Given the description of an element on the screen output the (x, y) to click on. 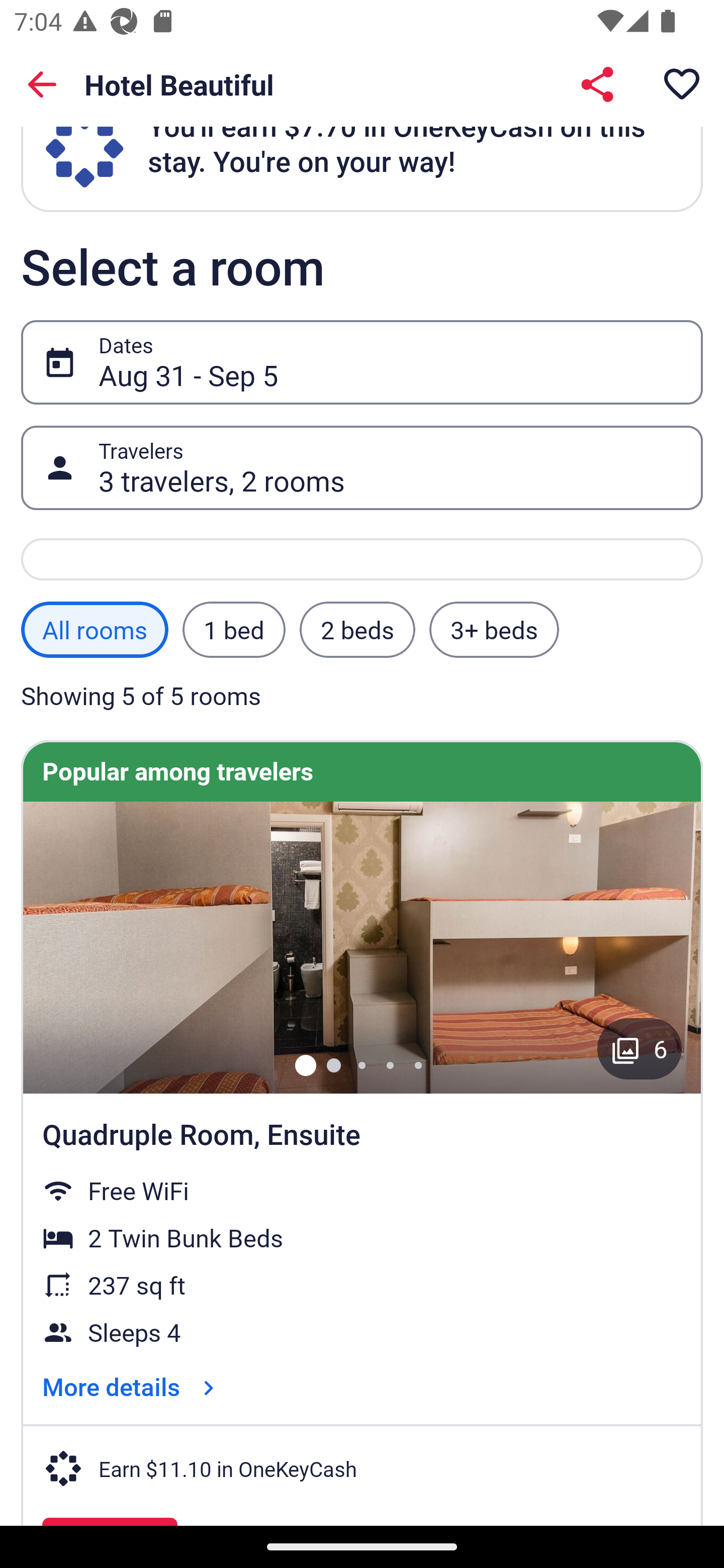
Back (42, 84)
Save property to a trip (681, 84)
Share Hotel Beautiful (597, 84)
Aug 31 - Sep 5 Dates (361, 361)
Aug 31 - Sep 5 (390, 361)
3 travelers, 2 rooms Travelers (361, 466)
3 travelers, 2 rooms (390, 467)
All rooms (94, 630)
1 bed (233, 630)
2 beds (357, 630)
3+ beds (493, 630)
In-room safe, soundproofing, free WiFi, bed sheets (361, 946)
Gallery button with 6 images (639, 1048)
